Given the description of an element on the screen output the (x, y) to click on. 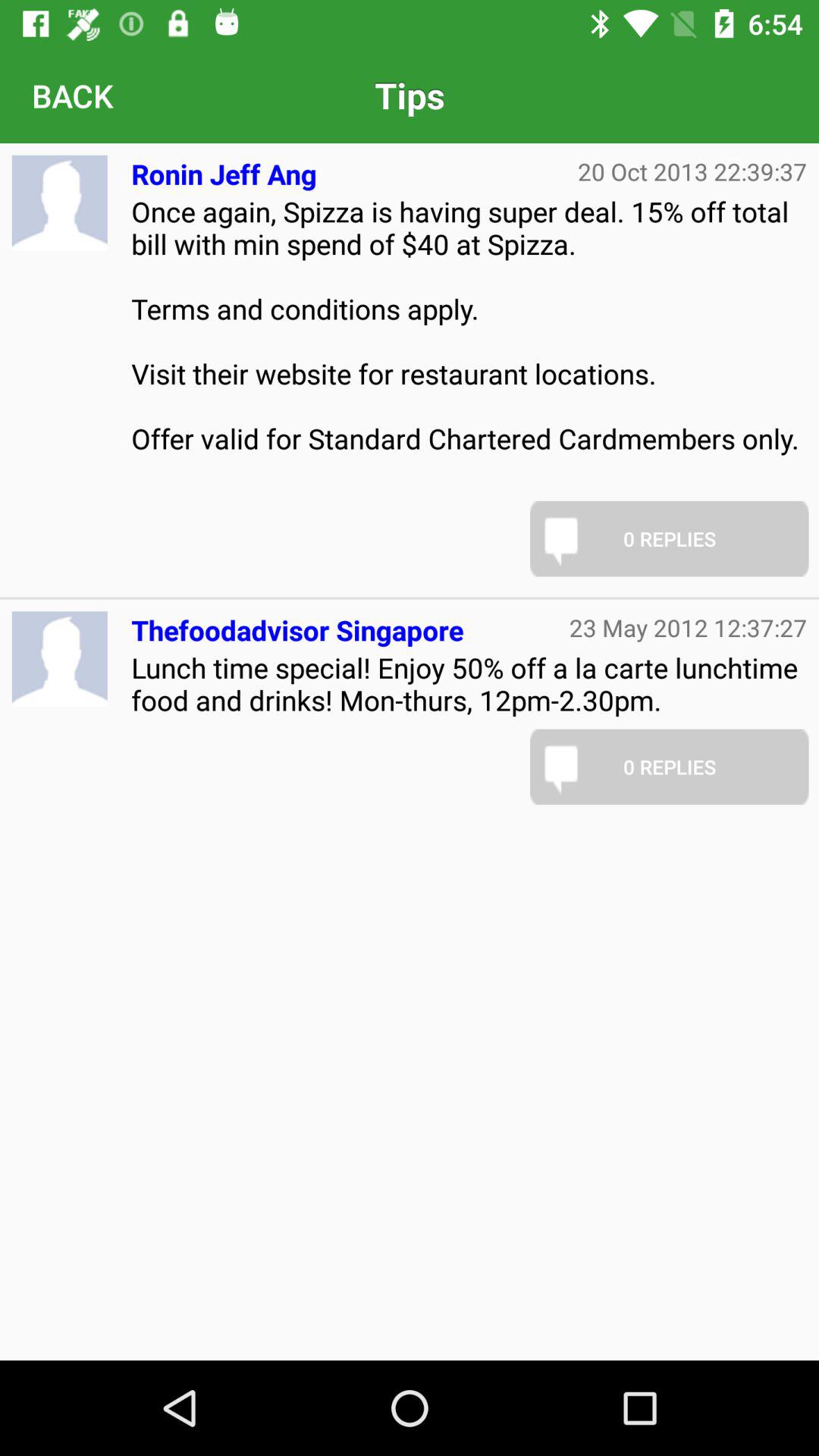
tap the icon next to ronin jeff ang item (692, 171)
